Given the description of an element on the screen output the (x, y) to click on. 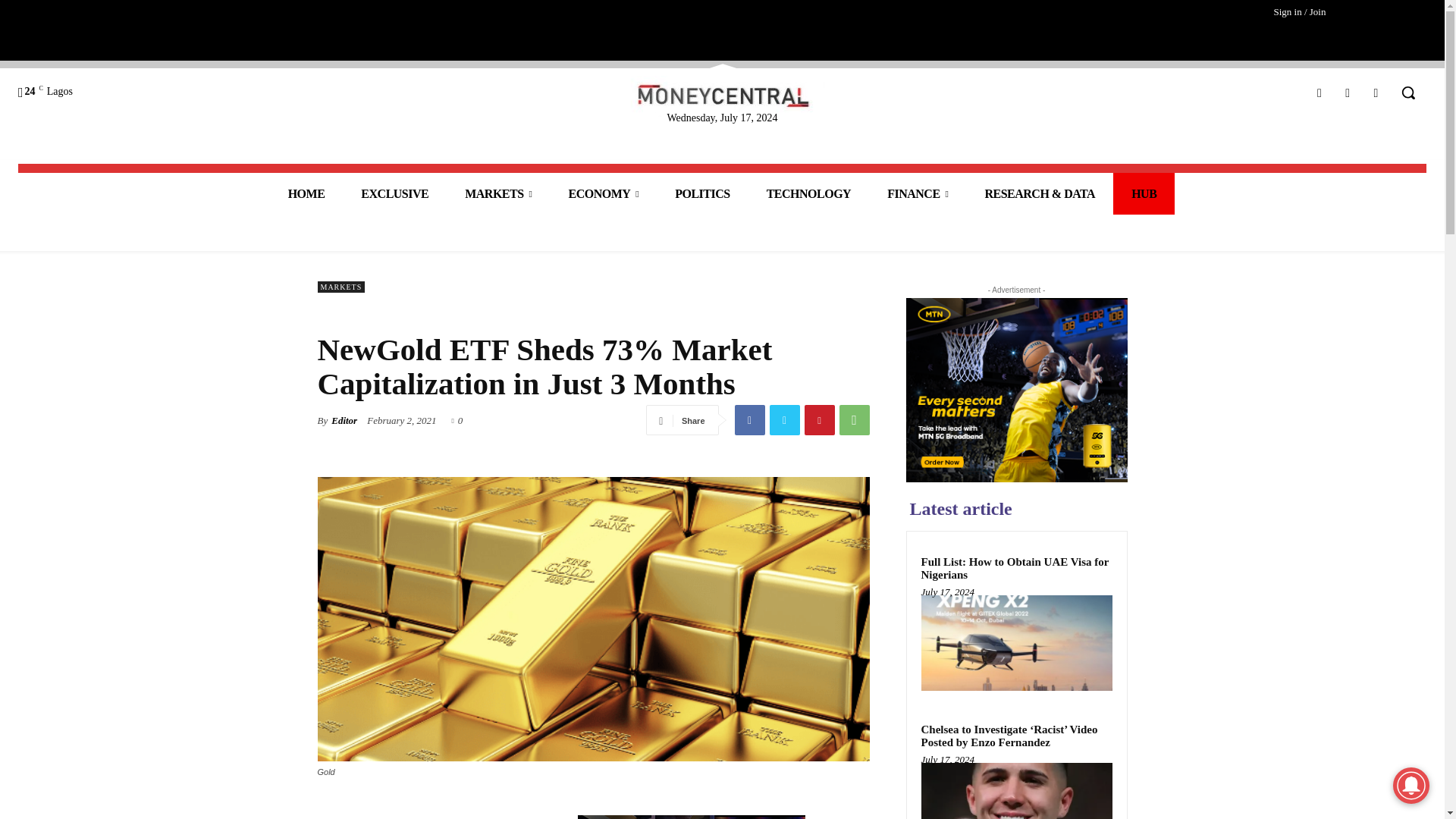
Twitter (783, 419)
Instagram (1348, 92)
WhatsApp (853, 419)
HOME (306, 193)
MARKETS (498, 193)
Pinterest (818, 419)
EXCLUSIVE (394, 193)
Facebook (1318, 92)
Facebook (748, 419)
Twitter (1375, 92)
